Given the description of an element on the screen output the (x, y) to click on. 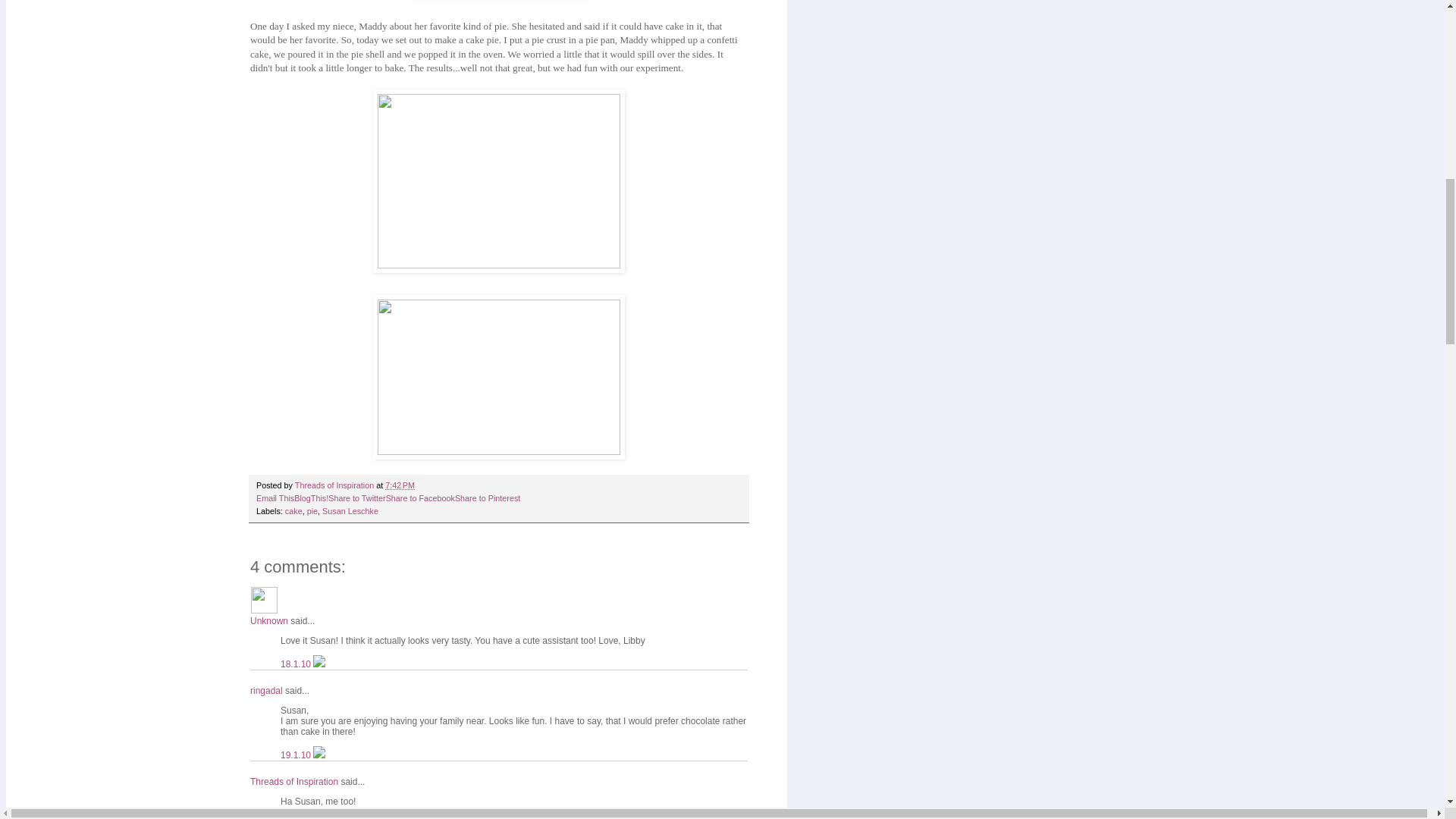
Share to Facebook (419, 497)
19.1.10 (297, 755)
Share to Pinterest (486, 497)
Unknown (264, 600)
Share to Pinterest (486, 497)
18.1.10 (297, 664)
Threads of Inspiration (293, 781)
pie (312, 510)
BlogThis! (311, 497)
Share to Twitter (357, 497)
comment permalink (297, 664)
Threads of Inspiration (335, 484)
Share to Twitter (357, 497)
Delete Comment (318, 755)
